Given the description of an element on the screen output the (x, y) to click on. 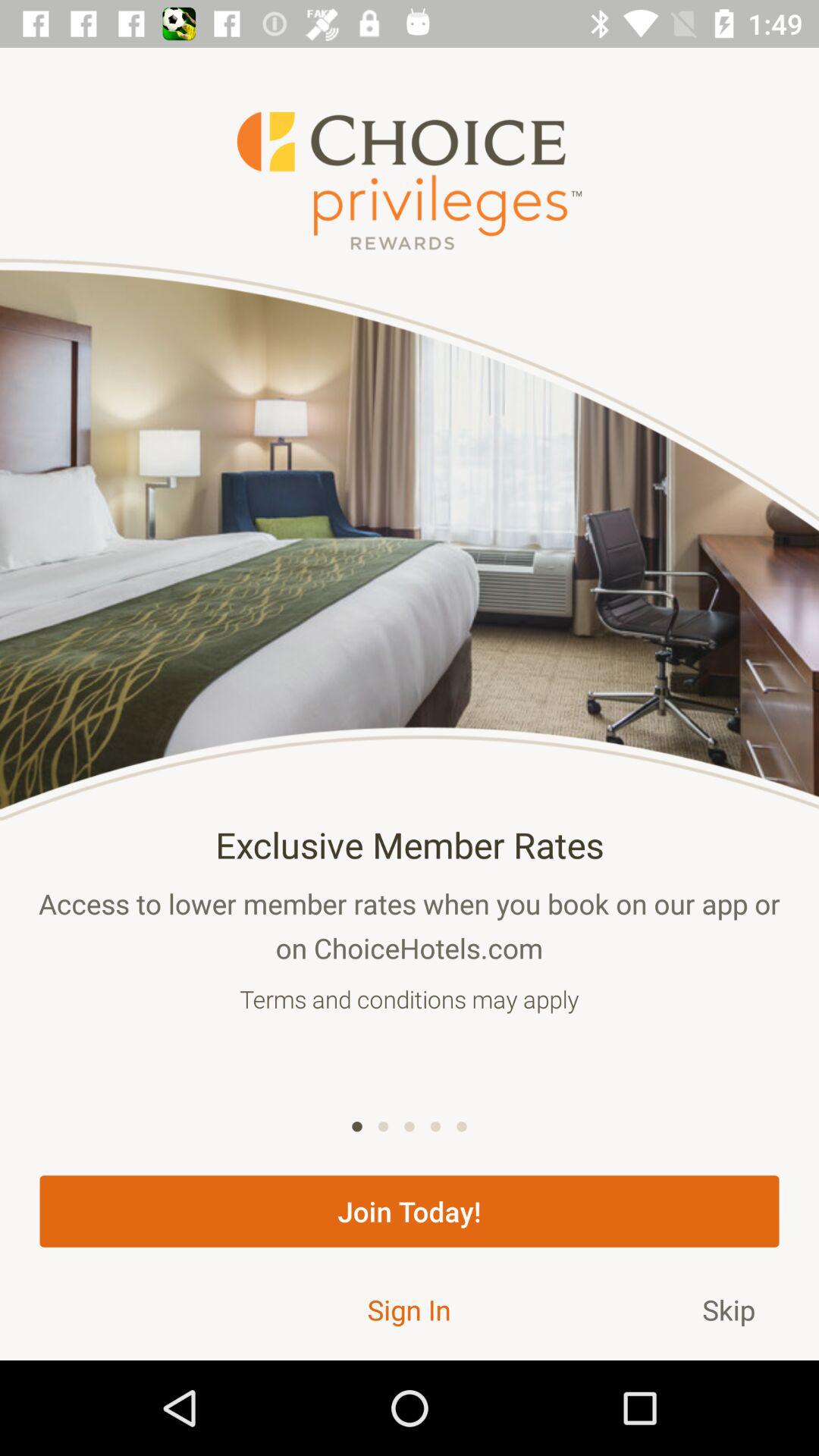
select the skip item (728, 1309)
